Given the description of an element on the screen output the (x, y) to click on. 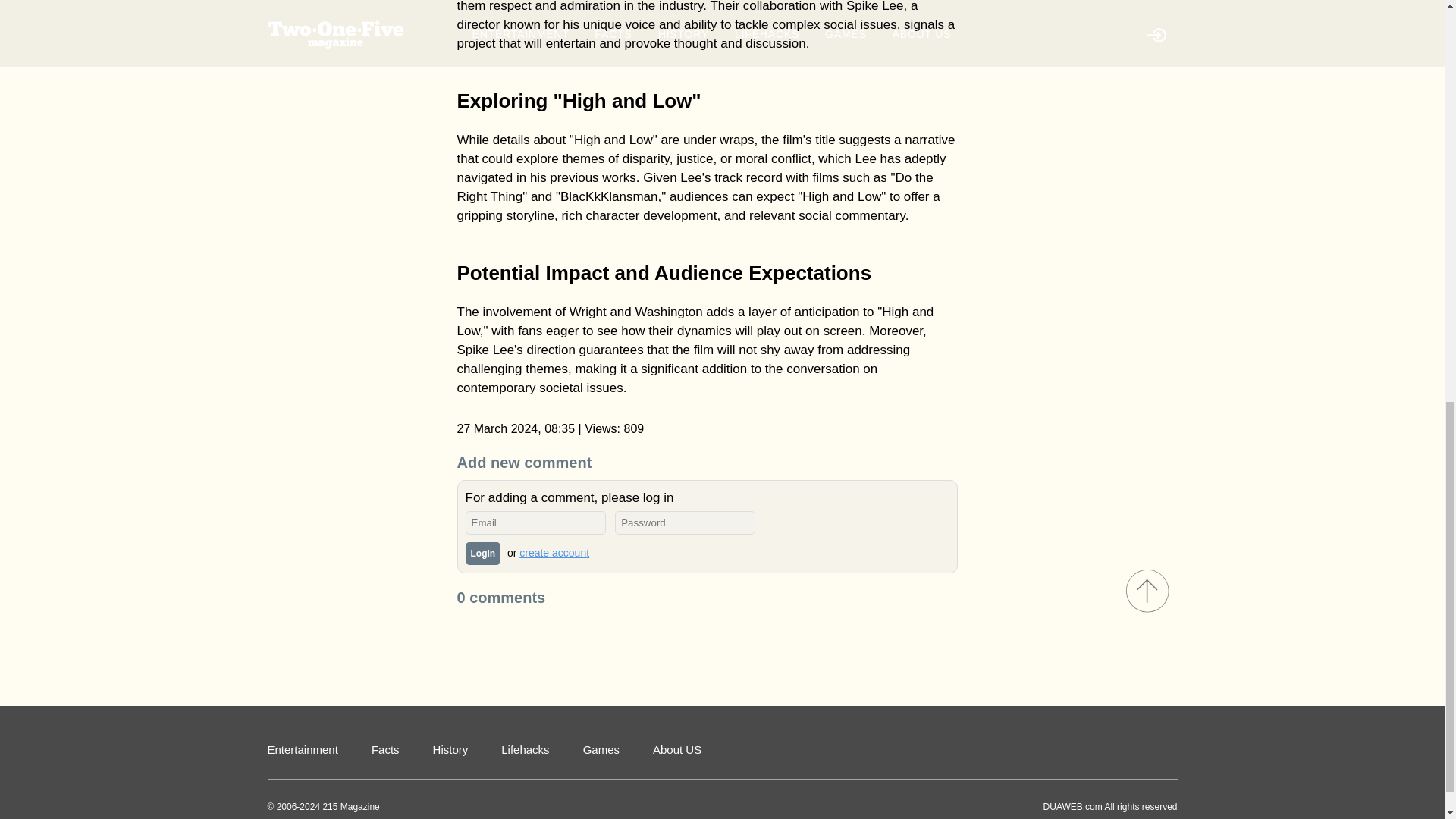
Games (601, 748)
create account (554, 552)
About US (676, 748)
Lifehacks (524, 748)
Login (482, 553)
Entertainment (301, 748)
Facts (384, 748)
History (450, 748)
